Given the description of an element on the screen output the (x, y) to click on. 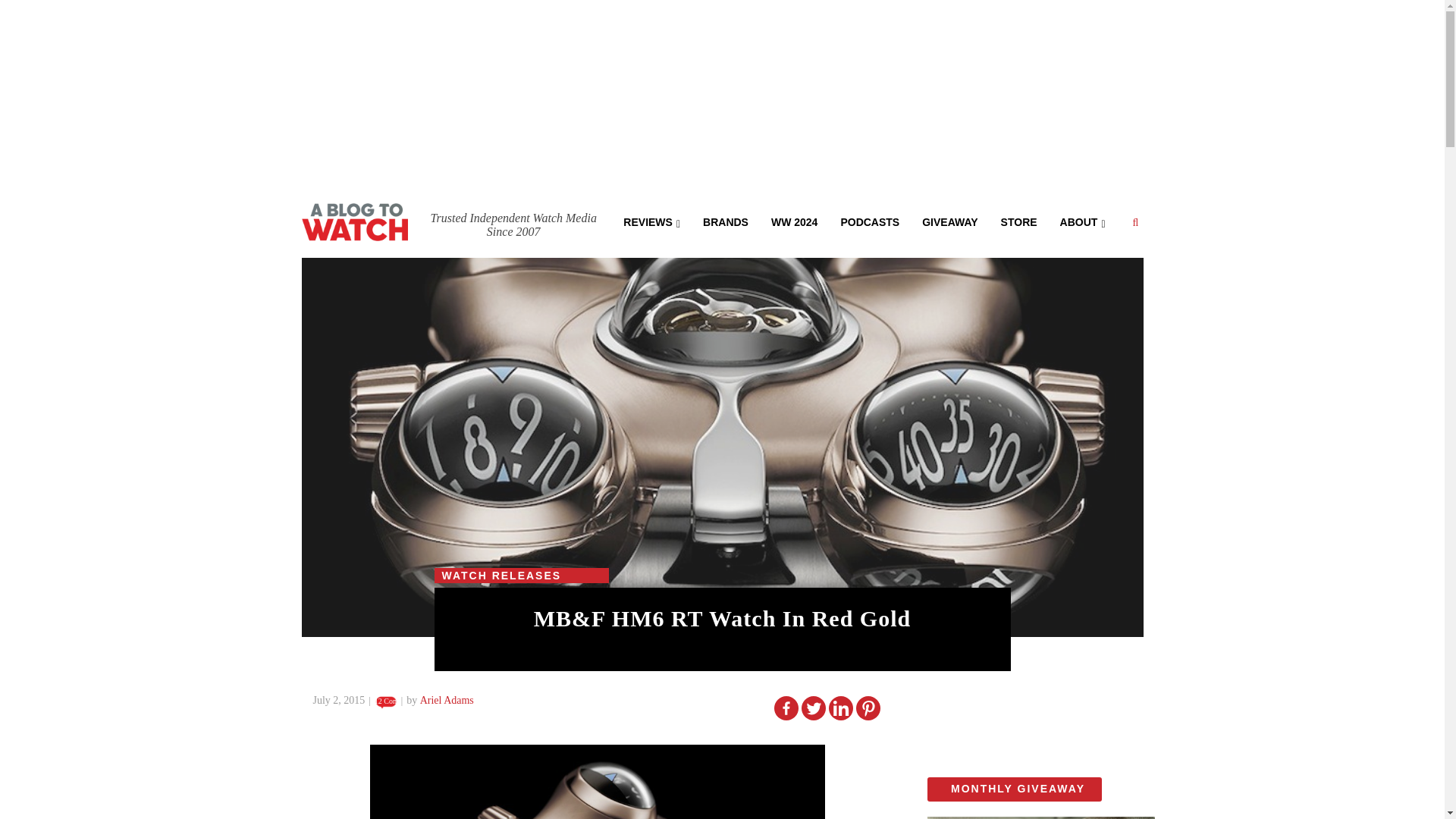
STORE (1019, 221)
BRANDS (725, 221)
WW 2024 (794, 221)
PODCASTS (869, 221)
Facebook (785, 708)
Linkedin (839, 708)
Guides to help you when buying watches (794, 221)
Twitter (812, 708)
GIVEAWAY (949, 221)
REVIEWS (651, 221)
Wrist Time Watch Reviews (651, 221)
ABOUT (1082, 221)
Pinterest (867, 708)
